Given the description of an element on the screen output the (x, y) to click on. 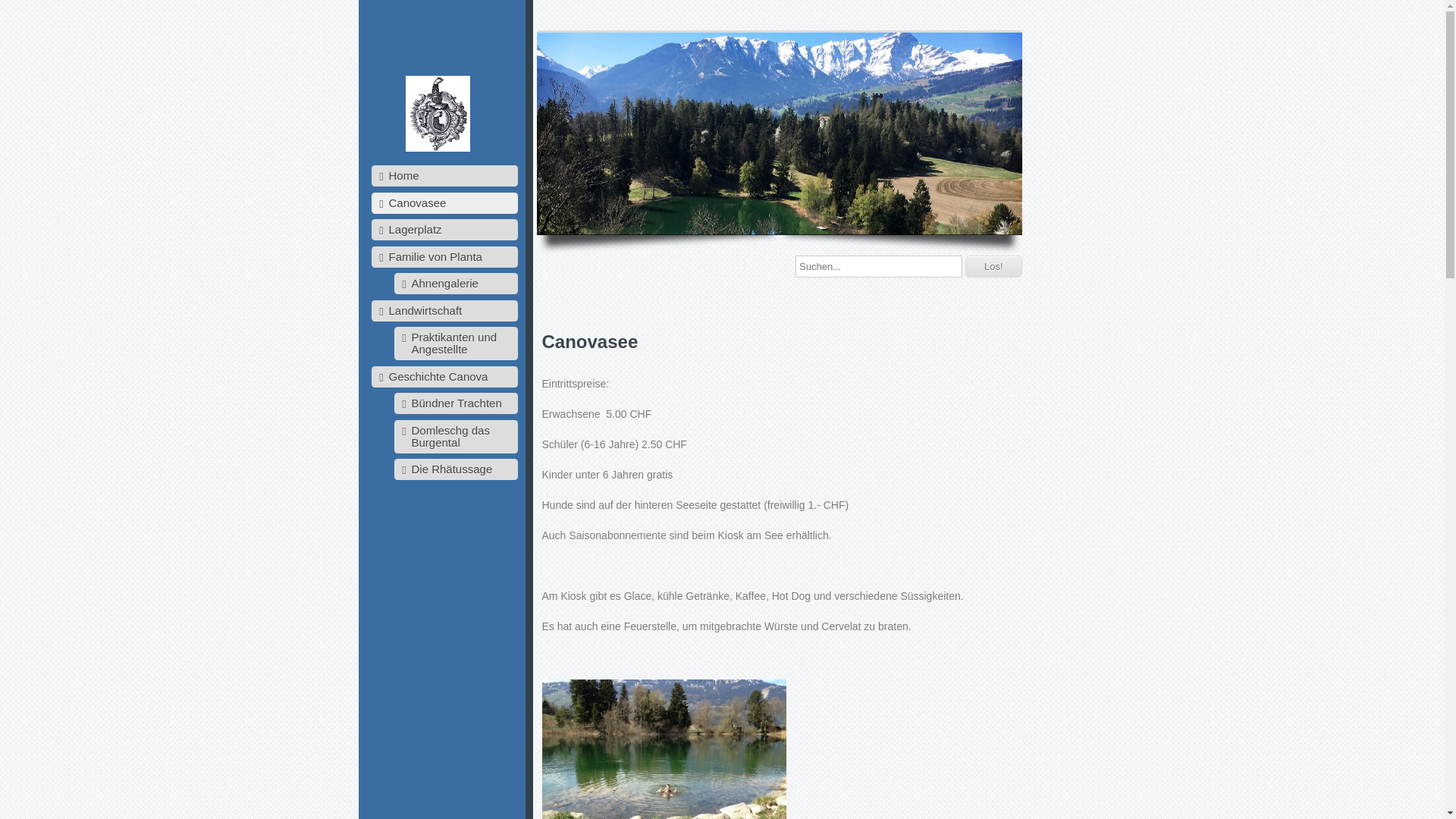
Familie von Planta Element type: text (444, 255)
Los! Element type: text (993, 266)
Lagerplatz Element type: text (444, 229)
Landwirtschaft Element type: text (444, 310)
Canovasee Element type: text (444, 202)
Geschichte Canova Element type: text (444, 375)
Praktikanten und Angestellte Element type: text (455, 343)
Home Element type: text (444, 175)
Domleschg das Burgental Element type: text (455, 436)
Ahnengalerie Element type: text (455, 283)
